Given the description of an element on the screen output the (x, y) to click on. 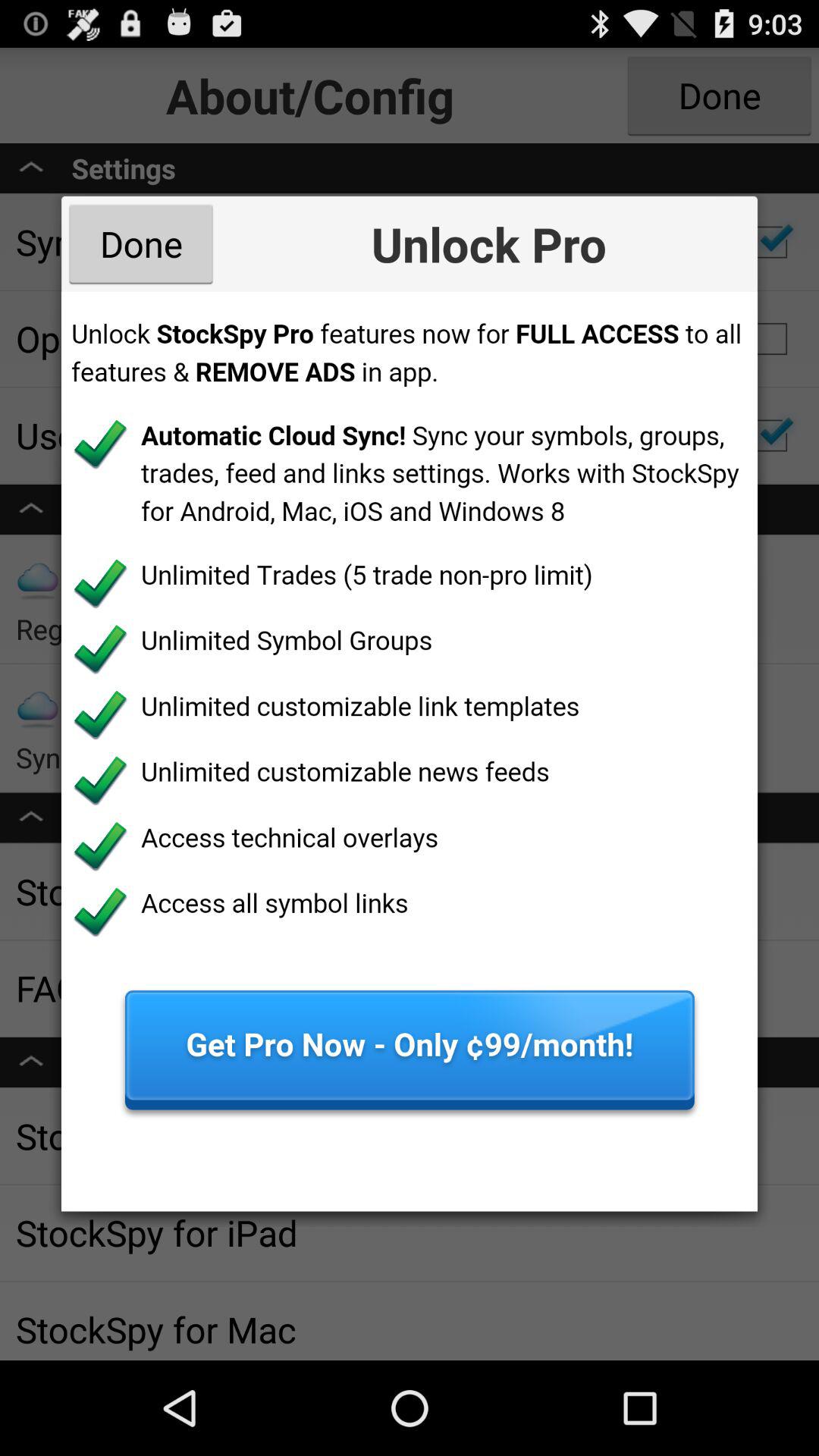
file (409, 751)
